Given the description of an element on the screen output the (x, y) to click on. 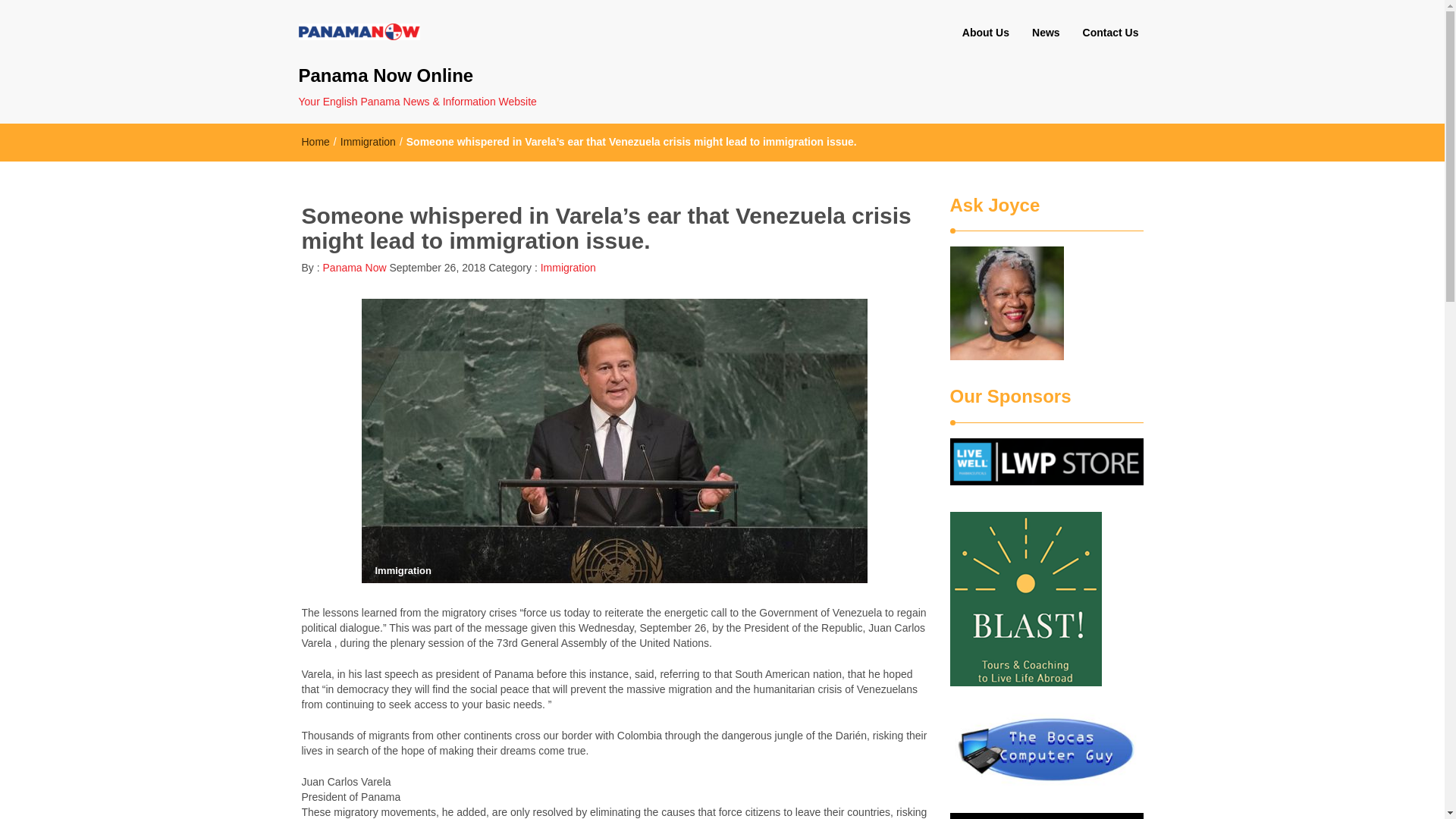
Immigration (567, 267)
Panama Now Online (446, 75)
News (1045, 32)
Home (315, 141)
Home (315, 141)
Panama Now (353, 267)
Contact Us (1110, 32)
About Us (985, 32)
Immigration (368, 141)
